Given the description of an element on the screen output the (x, y) to click on. 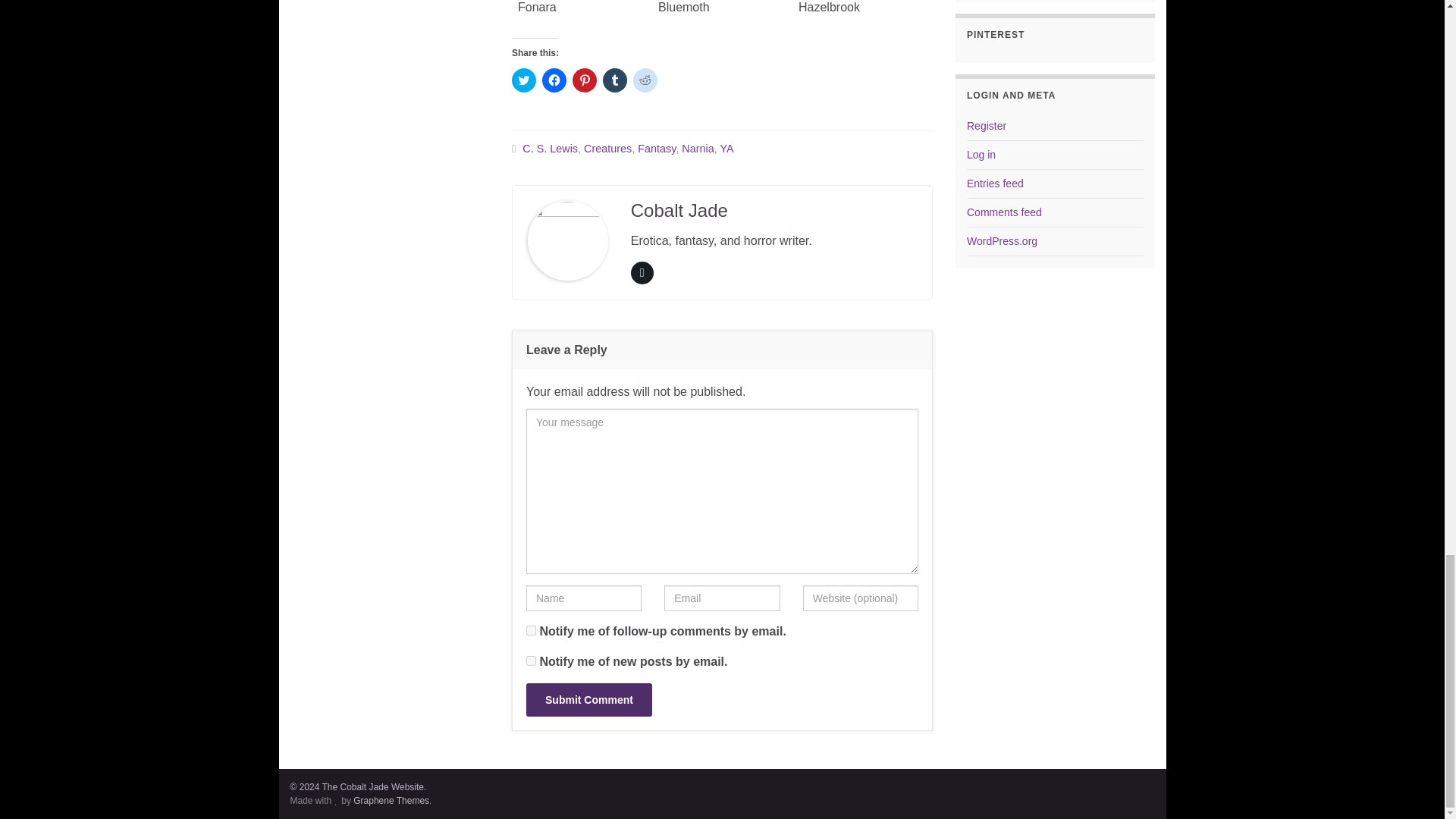
Click to share on Facebook (553, 79)
Submit Comment (588, 699)
Click to share on Pinterest (584, 79)
Click to share on Tumblr (614, 79)
C. S. Lewis (550, 148)
subscribe (530, 660)
YA (726, 148)
Creatures (607, 148)
Click to share on Reddit (645, 79)
subscribe (530, 630)
